Given the description of an element on the screen output the (x, y) to click on. 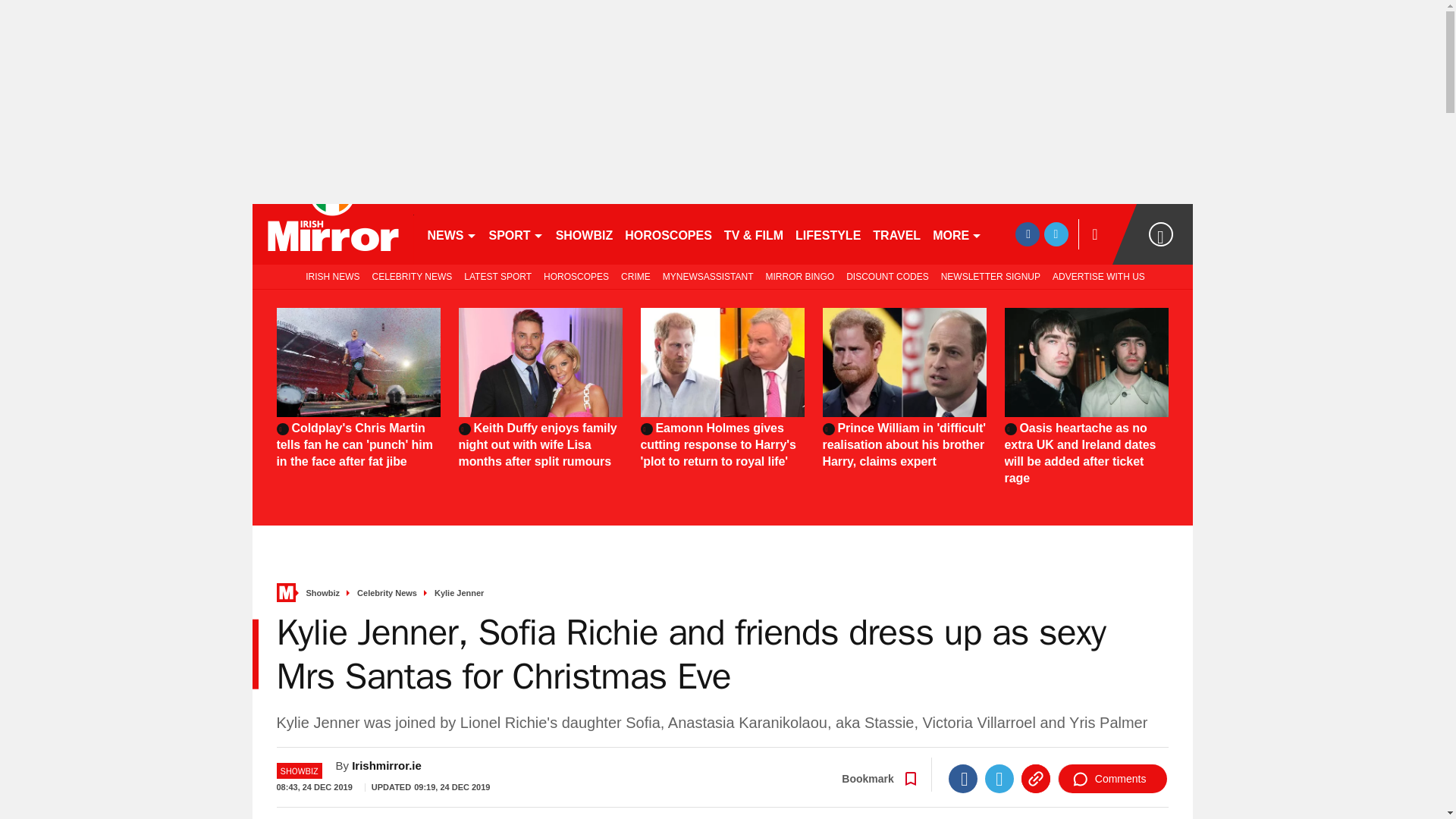
IRISH NEWS (329, 275)
facebook (1026, 233)
MORE (957, 233)
Facebook (962, 778)
MYNEWSASSISTANT (708, 275)
TRAVEL (896, 233)
LATEST SPORT (497, 275)
LIFESTYLE (827, 233)
HOROSCOPES (667, 233)
HOROSCOPES (575, 275)
